Given the description of an element on the screen output the (x, y) to click on. 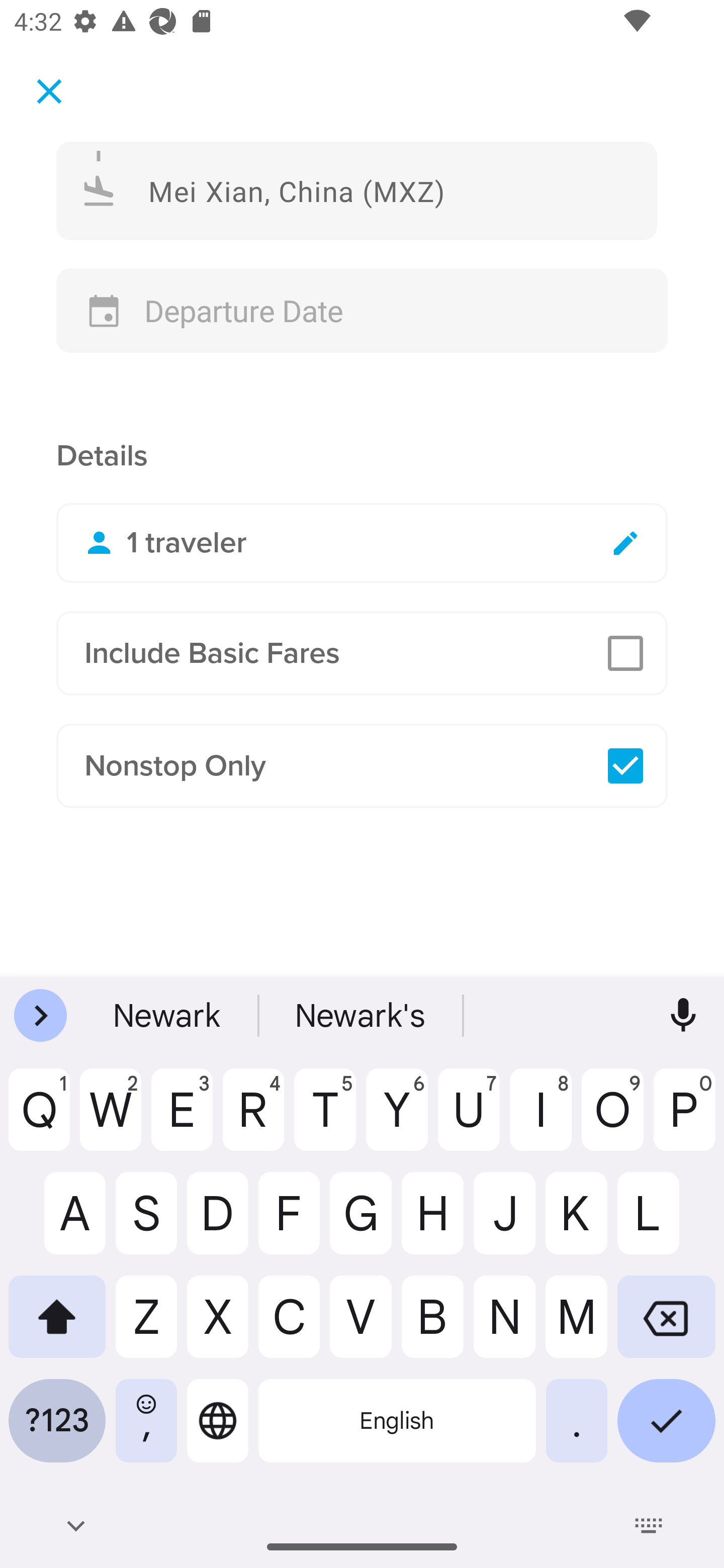
Cancel (49, 90)
Mei Xian, China (MXZ) (356, 190)
Departure Date (361, 310)
1 traveler Edit Travelers (361, 542)
Include Basic Fares (361, 653)
Nonstop Only (361, 765)
